Given the description of an element on the screen output the (x, y) to click on. 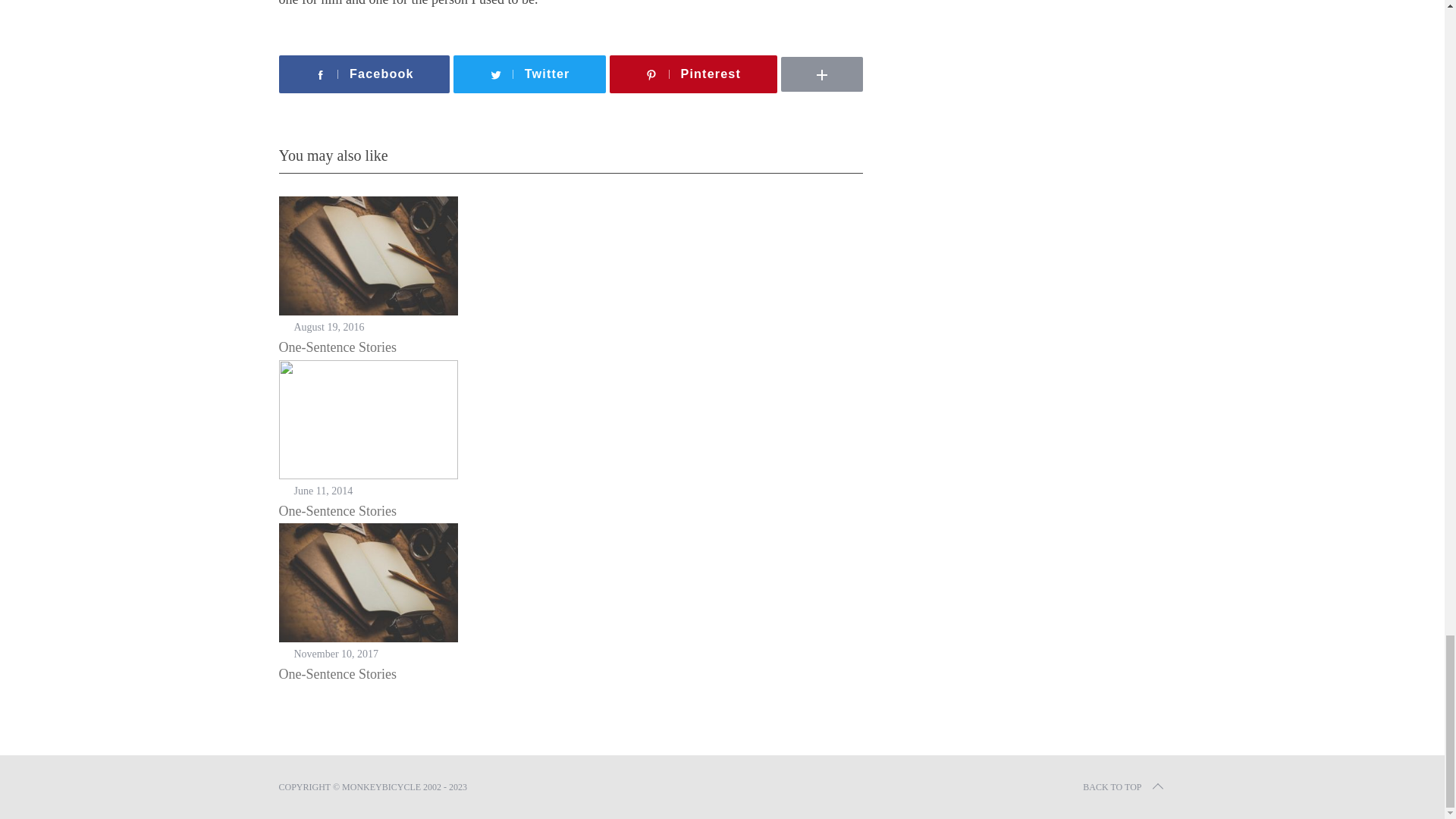
One-Sentence Stories (337, 510)
Pinterest (693, 74)
Facebook (364, 74)
Twitter (528, 74)
LINKEDIN (867, 52)
One-Sentence Stories (337, 673)
One-Sentence Stories (337, 346)
